Given the description of an element on the screen output the (x, y) to click on. 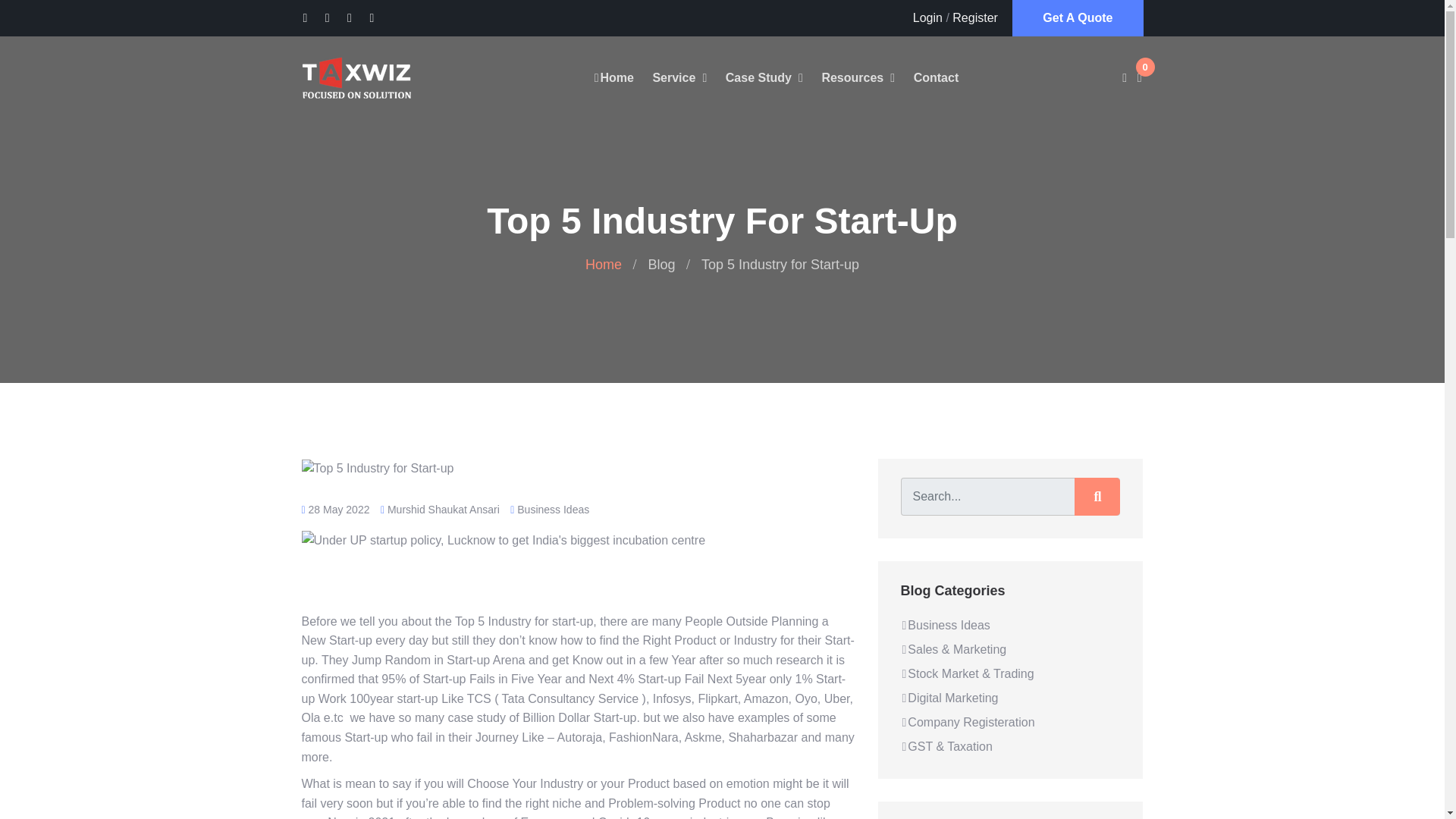
Login (927, 17)
Case Study (758, 77)
Home (612, 77)
Register (974, 17)
Get A Quote (1076, 18)
Service (673, 77)
